Given the description of an element on the screen output the (x, y) to click on. 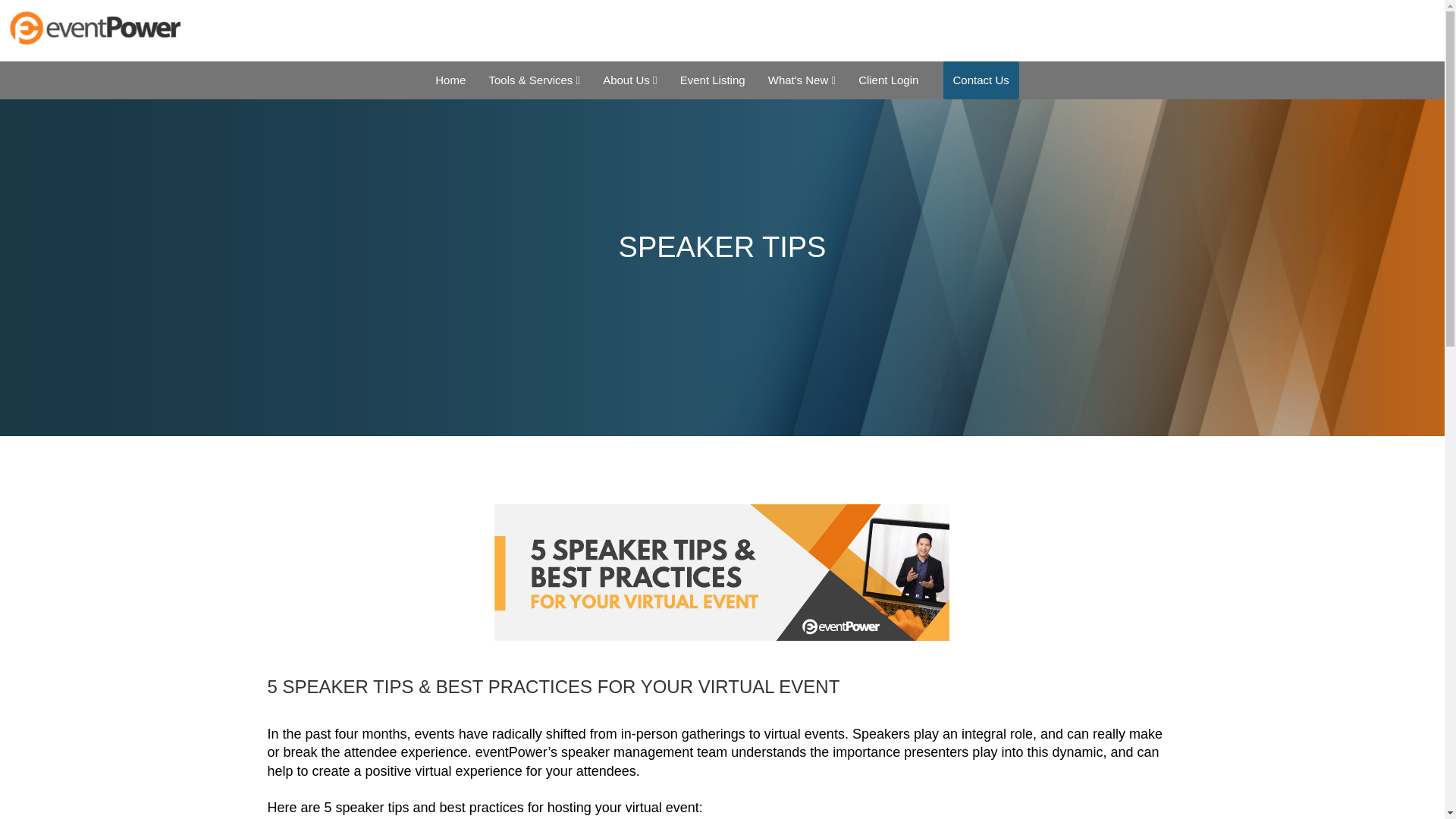
Contact Us (981, 80)
Client Login (888, 80)
Home (450, 80)
Event Listing (712, 80)
About Us (629, 80)
What's New (801, 80)
